Given the description of an element on the screen output the (x, y) to click on. 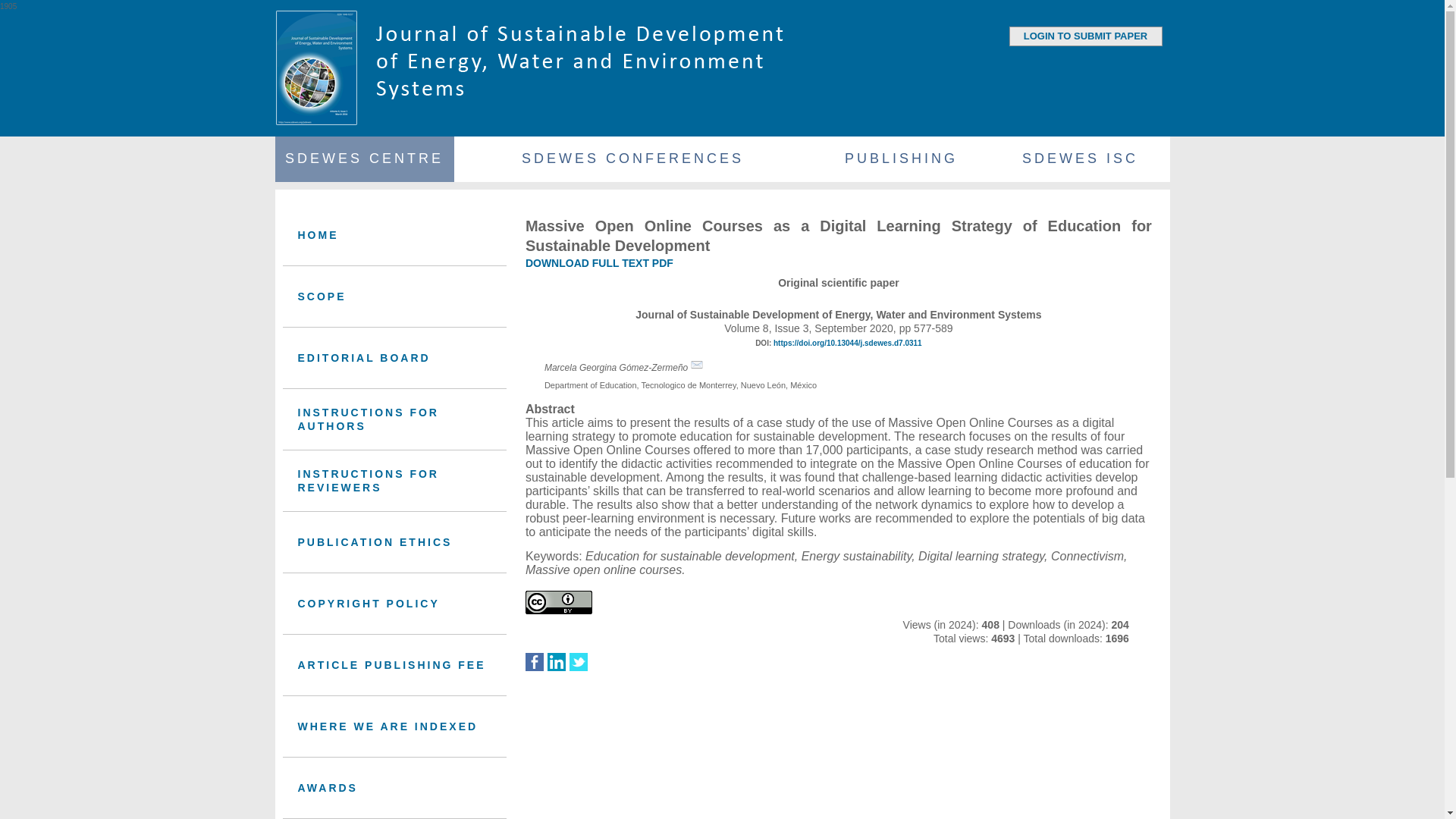
LOGIN TO SUBMIT PAPER (1085, 35)
SDEWES CONFERENCES (631, 158)
PUBLISHING (900, 158)
SDEWES CENTRE (363, 158)
SDEWES ISC (1079, 158)
